Given the description of an element on the screen output the (x, y) to click on. 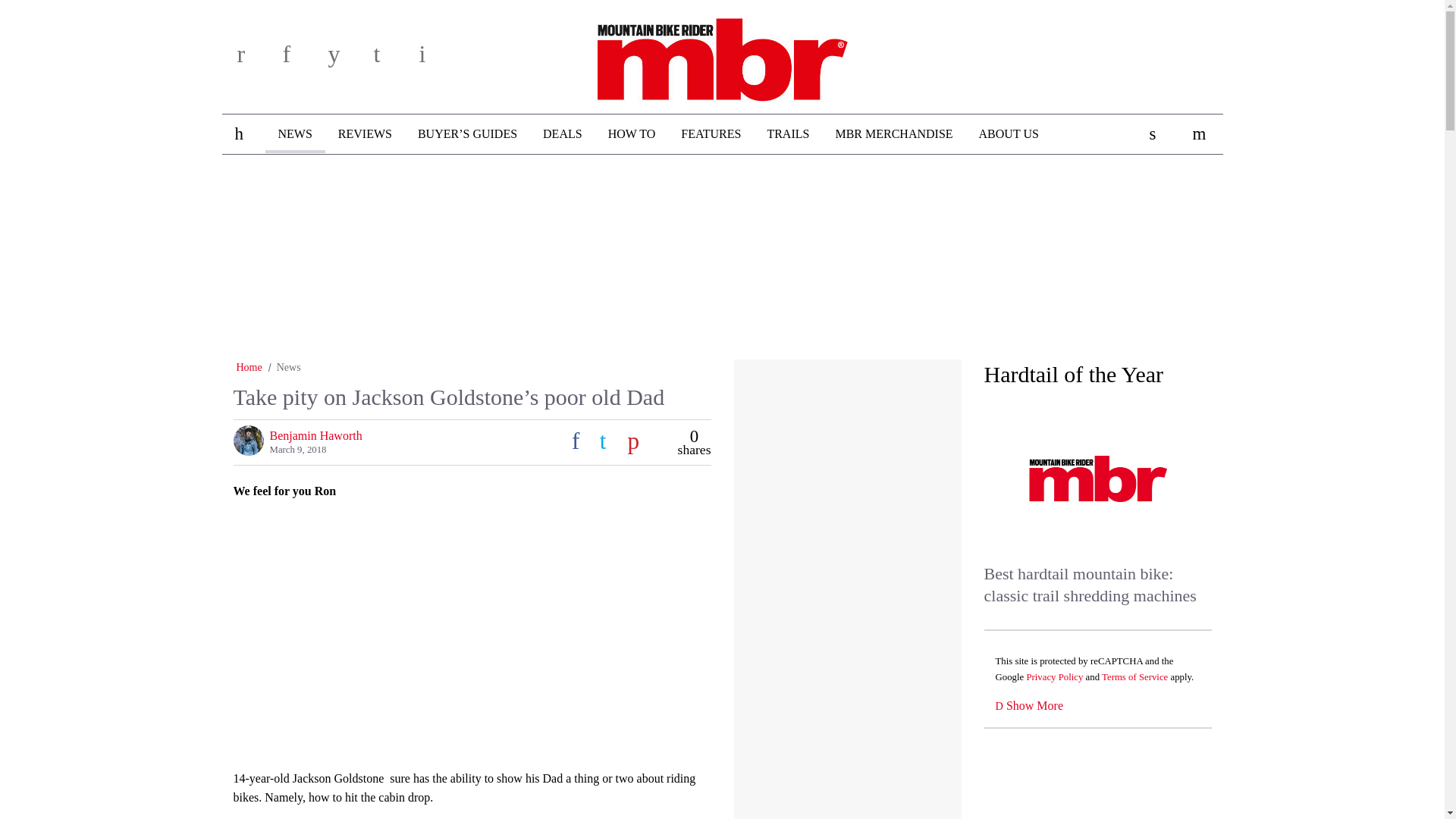
r (254, 59)
Benjamin Haworth's Profile (315, 435)
HOW TO (631, 133)
i (436, 59)
News (288, 367)
MBR (721, 53)
Home (248, 367)
FEATURES (711, 133)
t (390, 59)
y (345, 59)
MBR MERCHANDISE (893, 133)
Benjamin Haworth (315, 435)
REVIEWS (364, 133)
NEWS (294, 133)
MBR (721, 53)
